Given the description of an element on the screen output the (x, y) to click on. 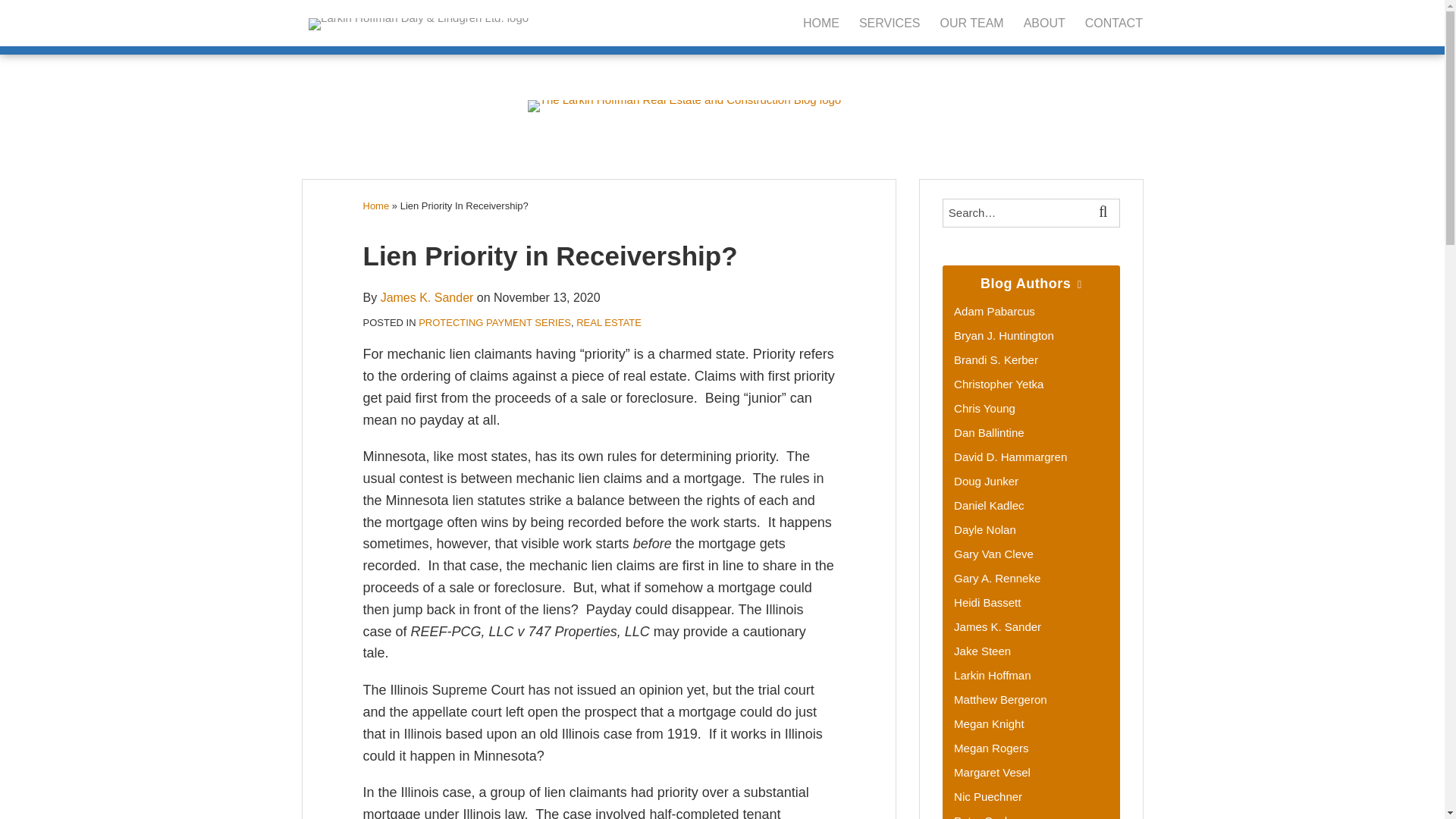
James K. Sander (427, 297)
David D. Hammargren (1010, 456)
PROTECTING PAYMENT SERIES (494, 322)
Dayle Nolan (984, 529)
Christopher Yetka (998, 383)
SEARCH (1105, 212)
Brandi S. Kerber (995, 359)
Doug Junker (985, 481)
Daniel Kadlec (989, 504)
Bryan J. Huntington (1003, 335)
